Given the description of an element on the screen output the (x, y) to click on. 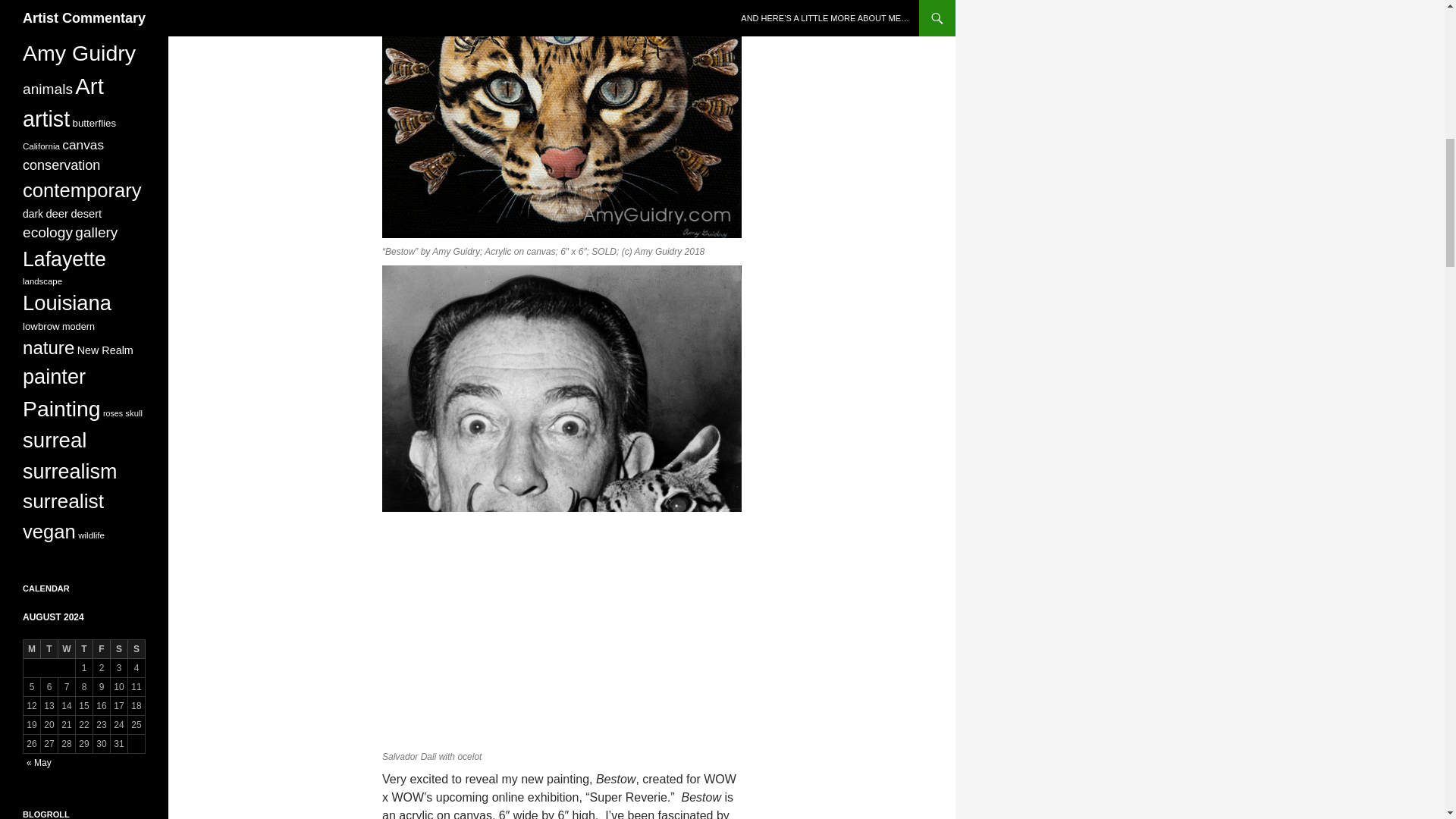
Monday (31, 649)
Thursday (84, 649)
Saturday (119, 649)
Wednesday (66, 649)
Friday (101, 649)
Sunday (136, 649)
Tuesday (49, 649)
